Given the description of an element on the screen output the (x, y) to click on. 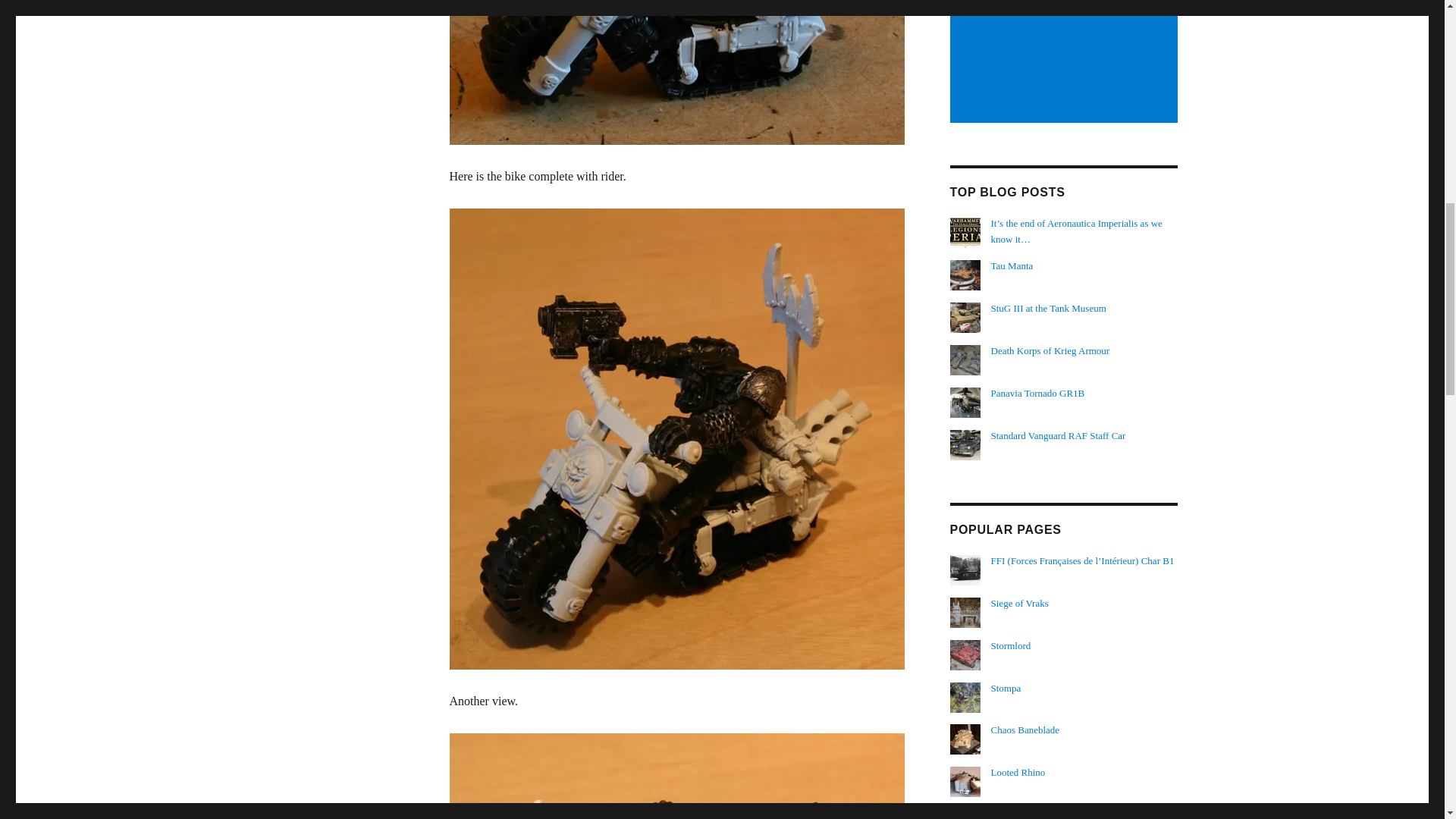
StuG III at the Tank Museum (1048, 307)
Standard Vanguard RAF Staff Car (1058, 435)
Tau Manta (1012, 265)
Death Korps of Krieg Armour (1050, 350)
Advertisement (1065, 61)
Panavia Tornado GR1B (1037, 392)
Siege of Vraks (1019, 603)
Panavia Tornado GR1B (1037, 392)
StuG III at the Tank Museum (1048, 307)
Standard Vanguard RAF Staff Car (1058, 435)
Death Korps of Krieg Armour (1050, 350)
Tau Manta (1012, 265)
